Given the description of an element on the screen output the (x, y) to click on. 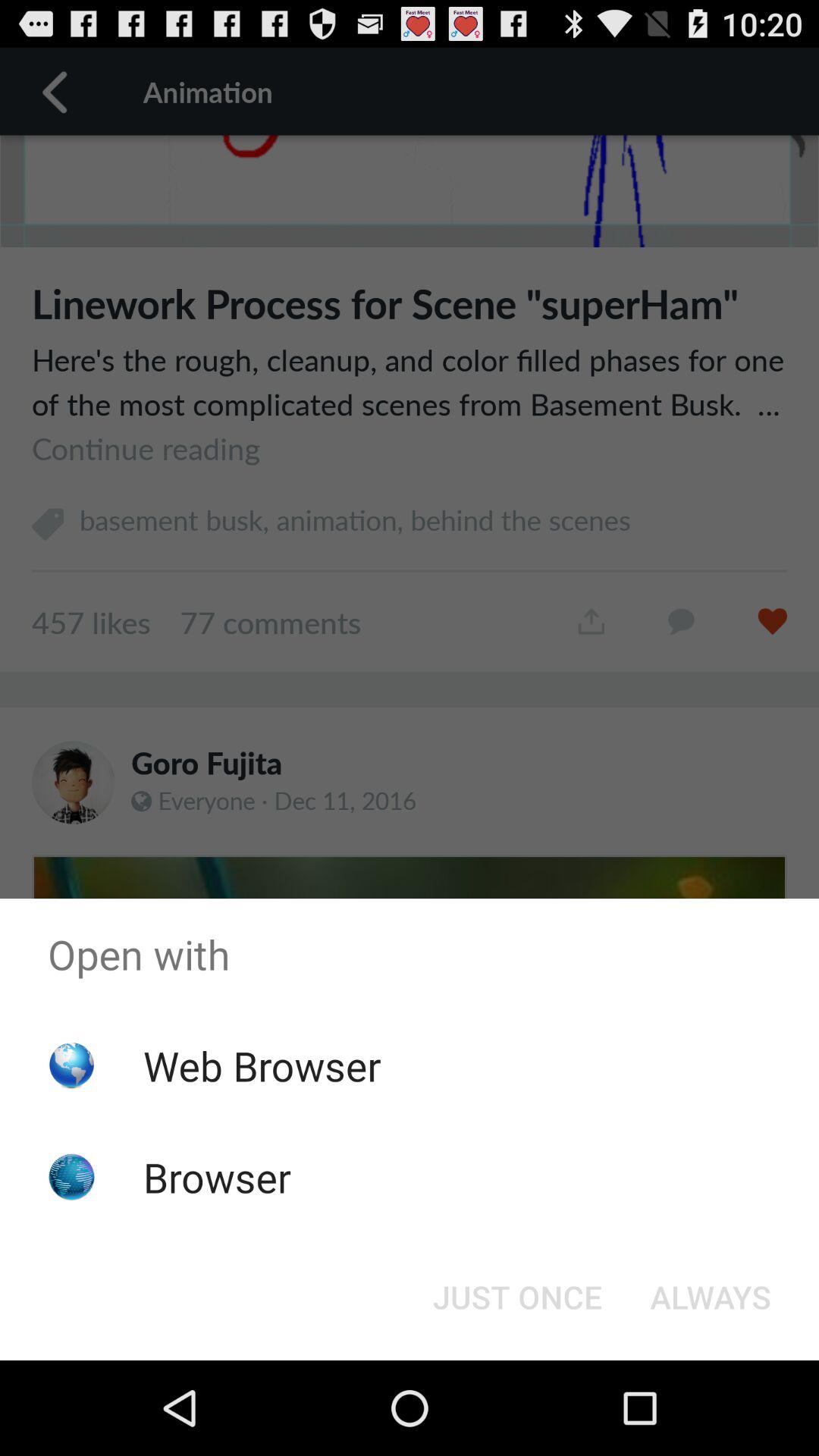
click button next to just once (710, 1296)
